Given the description of an element on the screen output the (x, y) to click on. 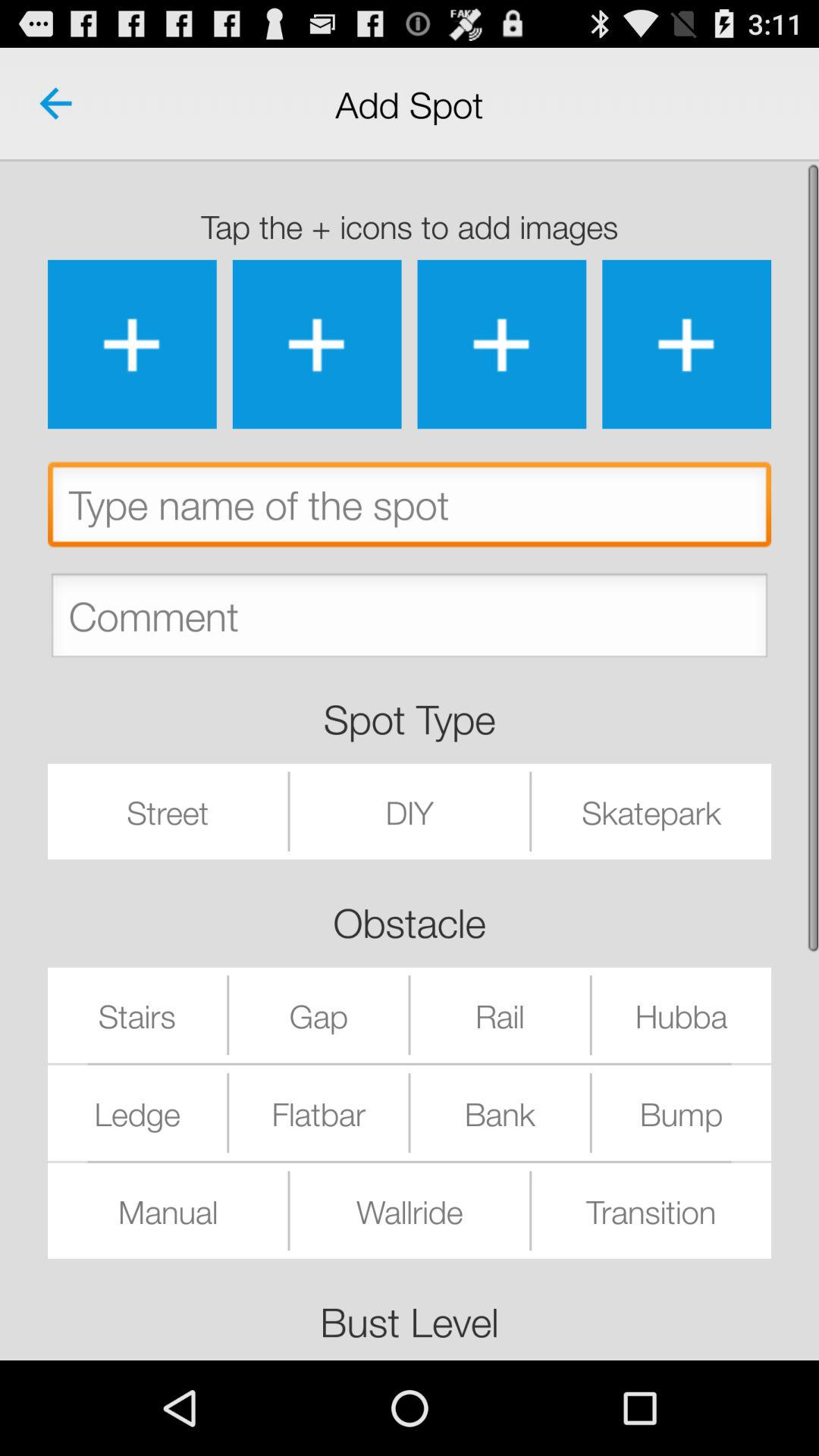
jump until the ledge (136, 1112)
